Given the description of an element on the screen output the (x, y) to click on. 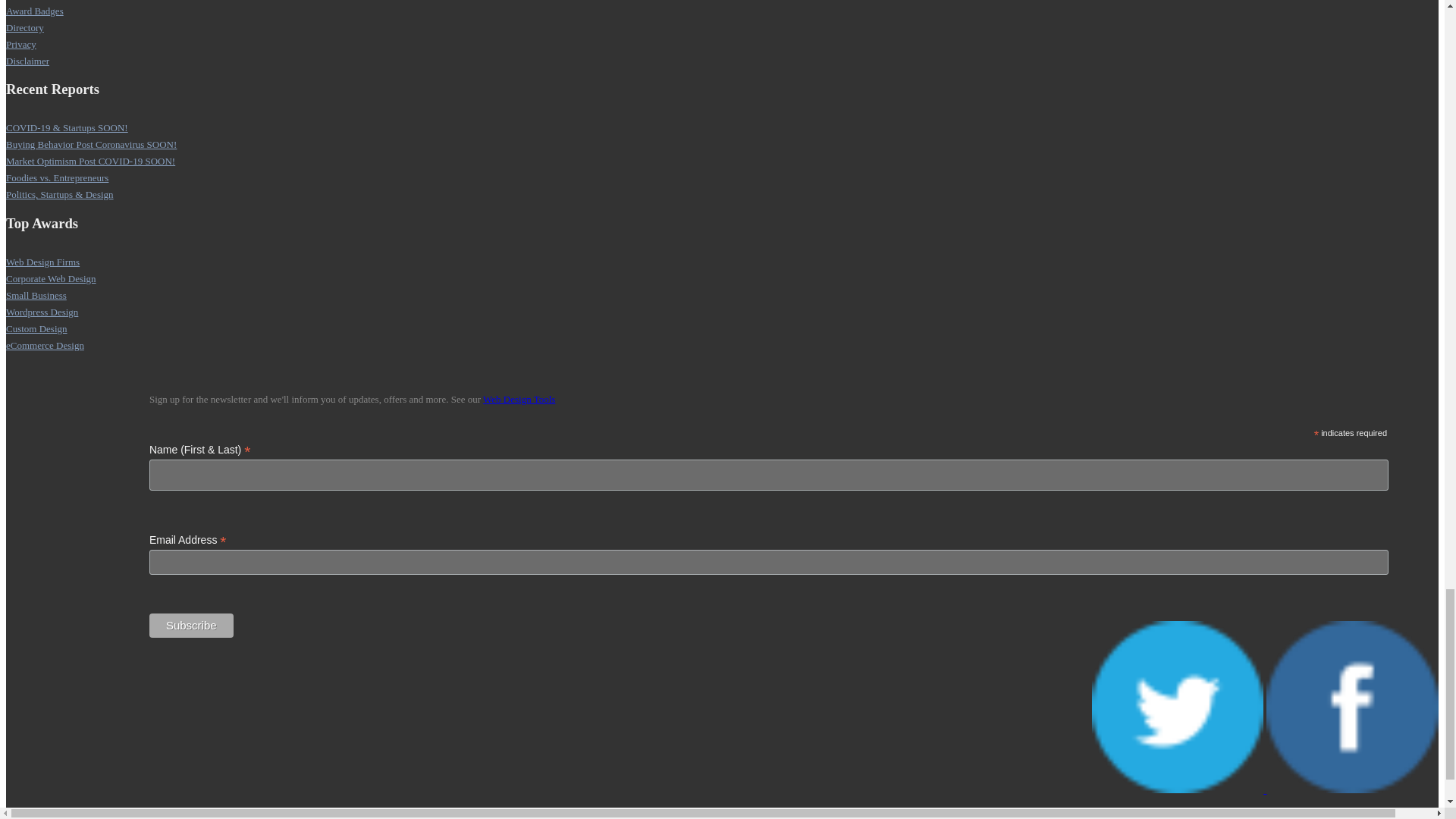
Web Design Tools (518, 398)
Subscribe (190, 625)
